Given the description of an element on the screen output the (x, y) to click on. 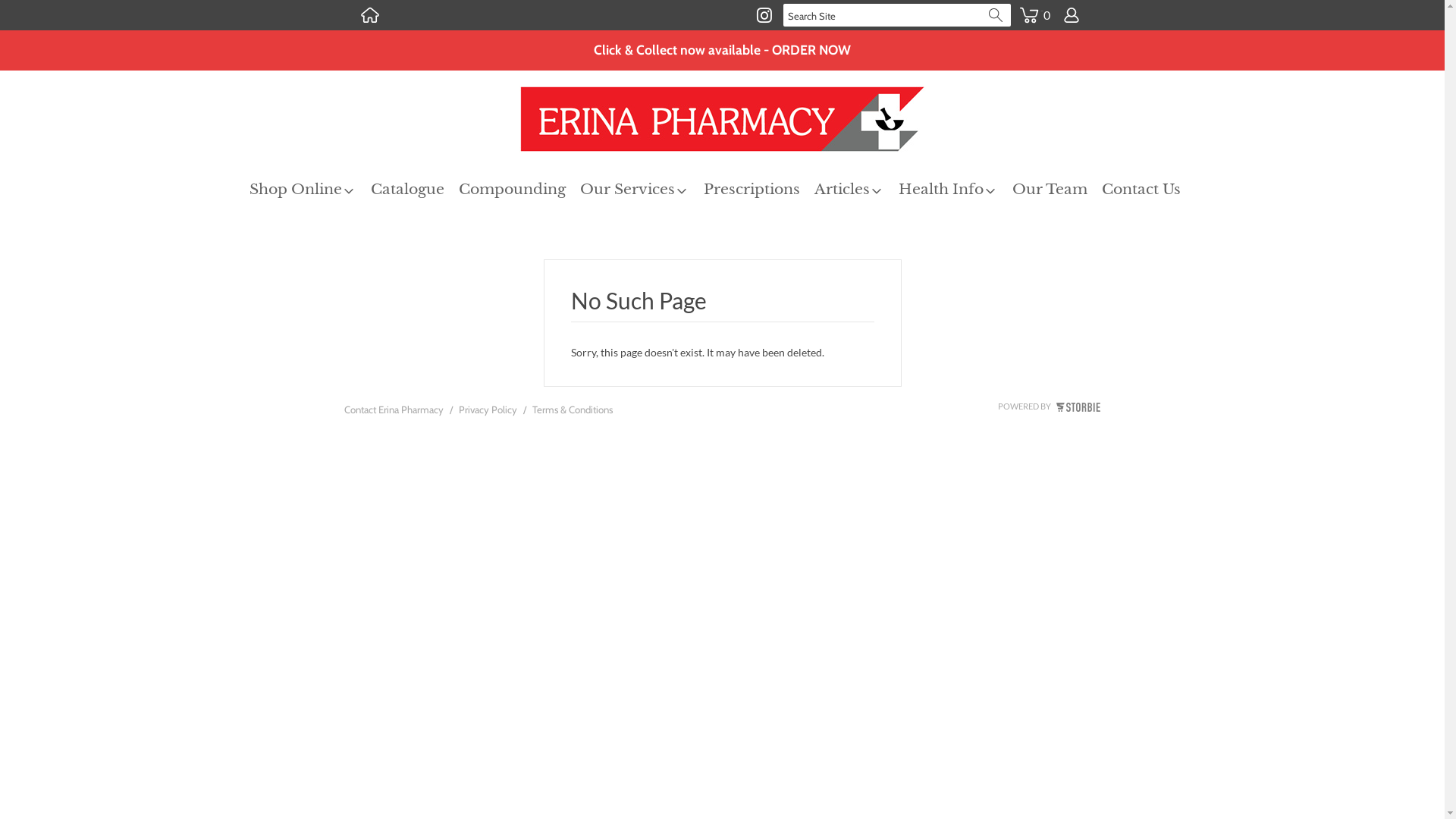
Shop Online Element type: text (309, 188)
Contact Erina Pharmacy Element type: text (393, 413)
POWERED BY Element type: text (1048, 406)
  0 Element type: text (1033, 6)
Catalogue Element type: text (414, 188)
Prescriptions Element type: text (758, 188)
Home Element type: hover (368, 15)
Our Team Element type: text (1056, 188)
Terms & Conditions Element type: text (572, 413)
Our Services Element type: text (641, 188)
Compounding Element type: text (519, 188)
Contact Us Element type: text (1148, 188)
Profile Element type: hover (1070, 15)
Privacy Policy Element type: text (487, 413)
Instagram Element type: hover (764, 15)
Articles Element type: text (856, 188)
  Element type: text (368, 15)
Health Info Element type: text (955, 188)
